Given the description of an element on the screen output the (x, y) to click on. 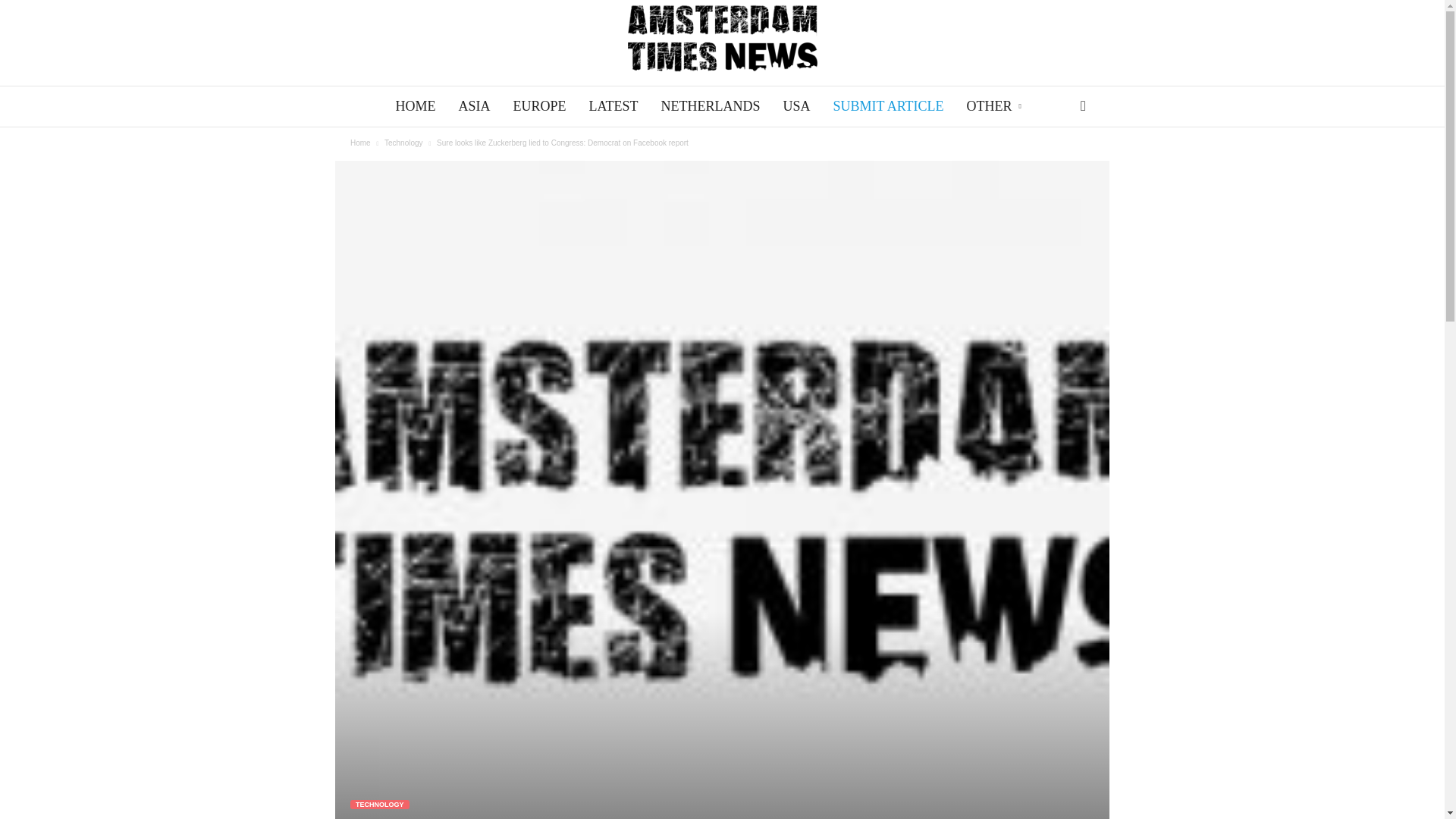
ASIA (473, 106)
SUBMIT ARTICLE (888, 106)
USA (796, 106)
View all posts in Technology (403, 142)
HOME (415, 106)
LATEST (612, 106)
NETHERLANDS (710, 106)
EUROPE (538, 106)
OTHER (995, 106)
